Given the description of an element on the screen output the (x, y) to click on. 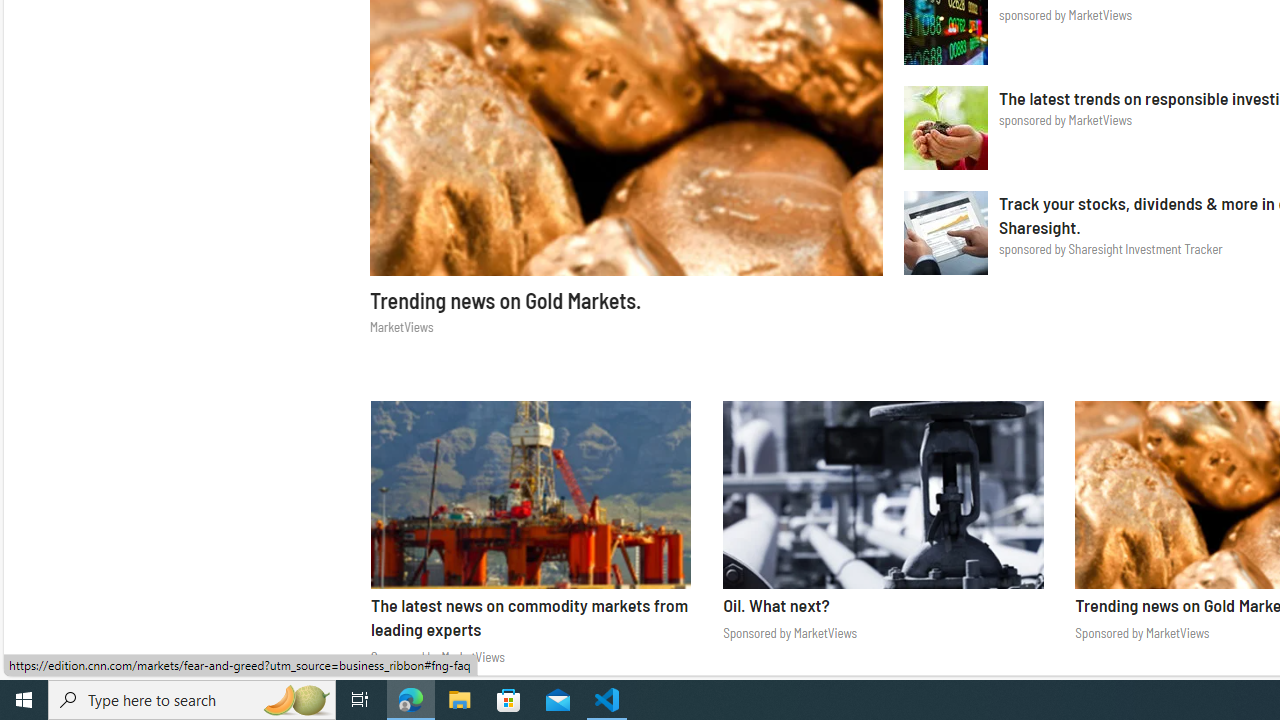
MarketViews (882, 494)
MarketViews Oil. What next? Sponsored by MarketViews (882, 527)
Sharesight Investment Tracker (945, 232)
